Given the description of an element on the screen output the (x, y) to click on. 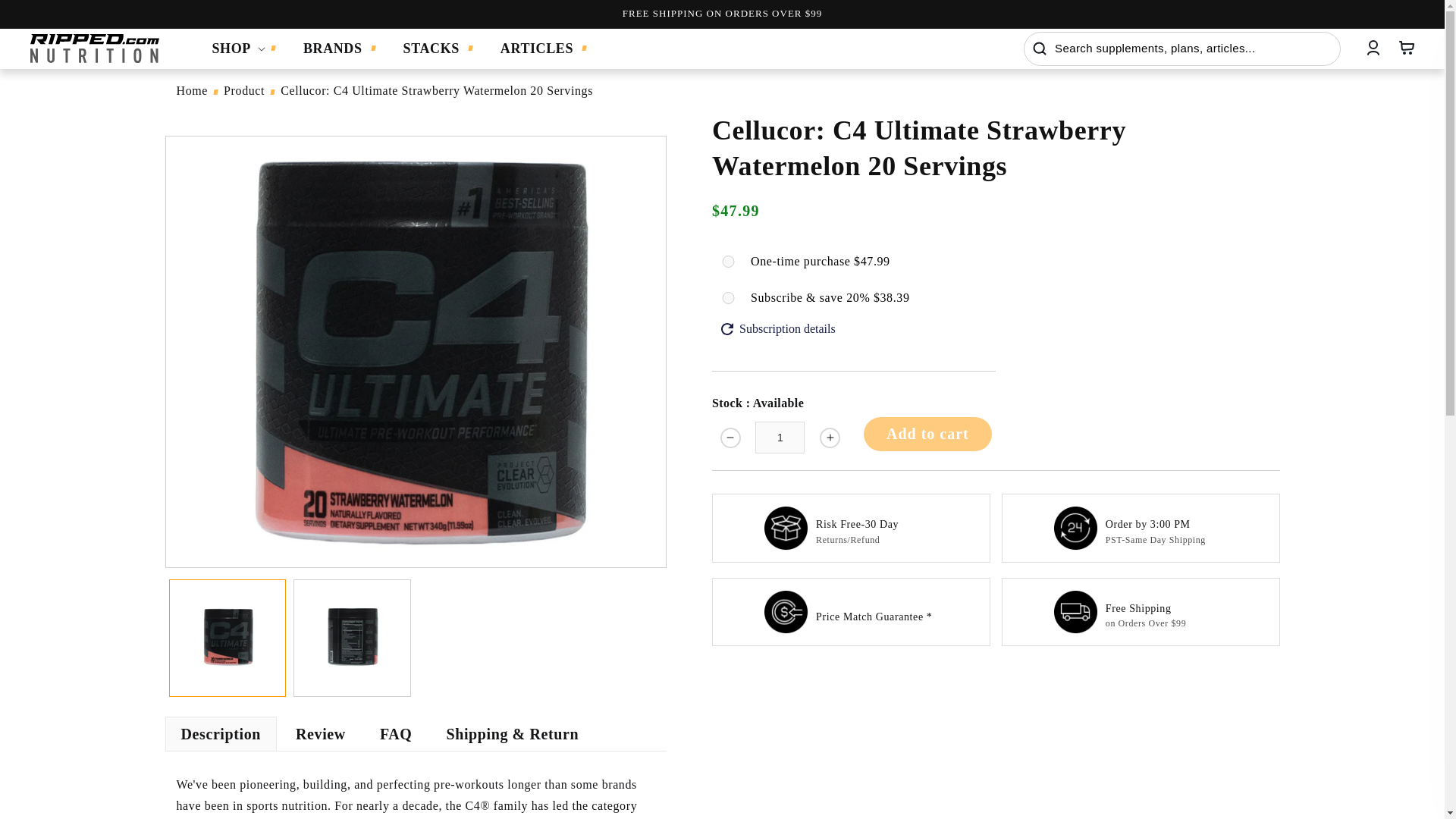
Skip to content (45, 16)
subscription (727, 297)
1 (780, 437)
Home (192, 90)
onetime (727, 261)
